Given the description of an element on the screen output the (x, y) to click on. 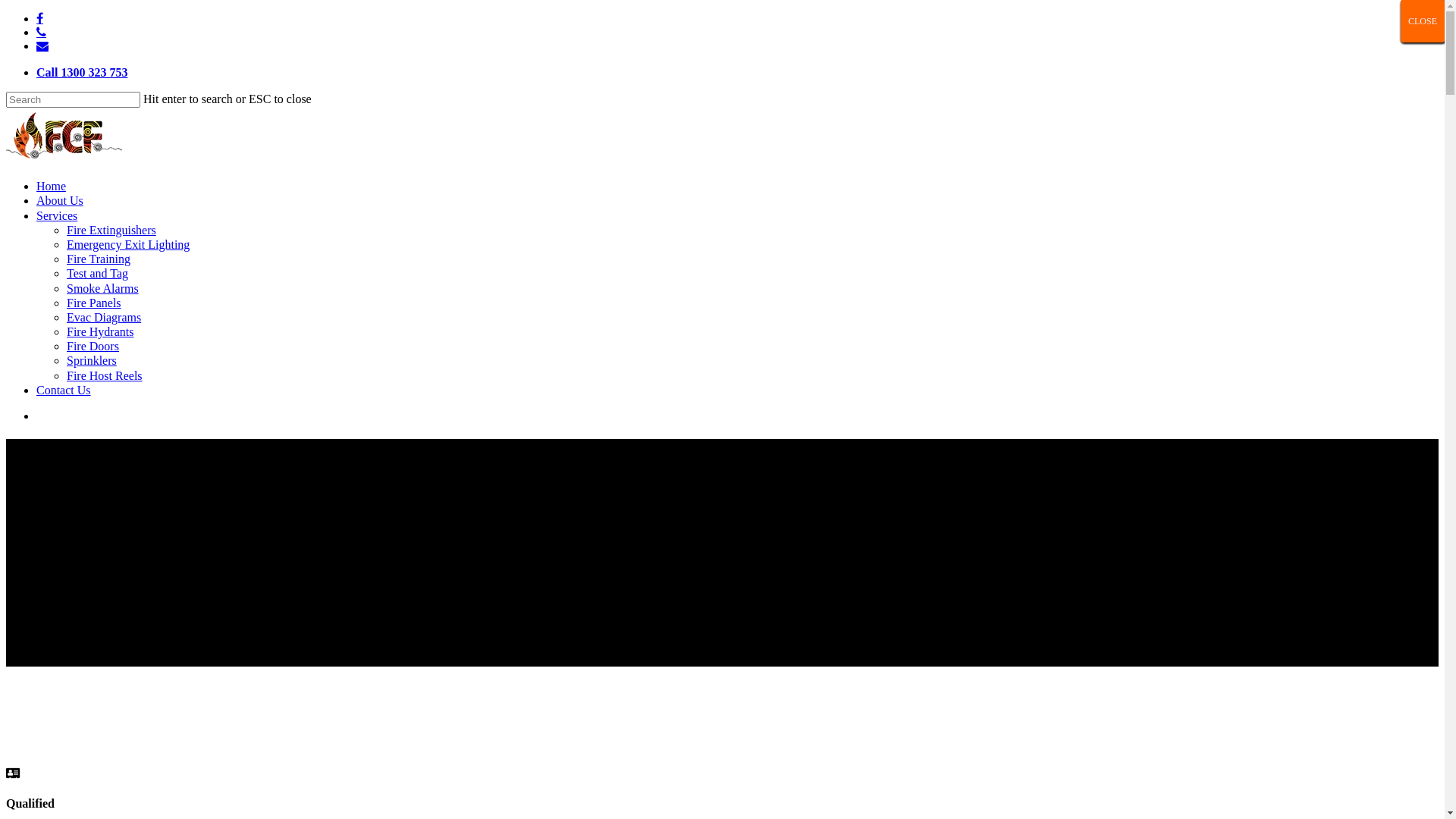
Fire Training Element type: text (98, 258)
CLOSE Element type: text (1422, 21)
Emergency Exit Lighting Element type: text (127, 244)
Smoke Alarms Element type: text (102, 288)
Fire Hydrants Element type: text (99, 331)
Contact Us Element type: text (63, 389)
Sprinklers Element type: text (91, 360)
Services Element type: text (56, 215)
Fire Panels Element type: text (93, 302)
Fire Doors Element type: text (92, 345)
Call 1300 323 753 Element type: text (81, 71)
Test and Tag Element type: text (97, 272)
About Us Element type: text (59, 200)
Fire Extinguishers Element type: text (111, 229)
Fire Host Reels Element type: text (104, 375)
Home Element type: text (50, 185)
Evac Diagrams Element type: text (103, 316)
